Given the description of an element on the screen output the (x, y) to click on. 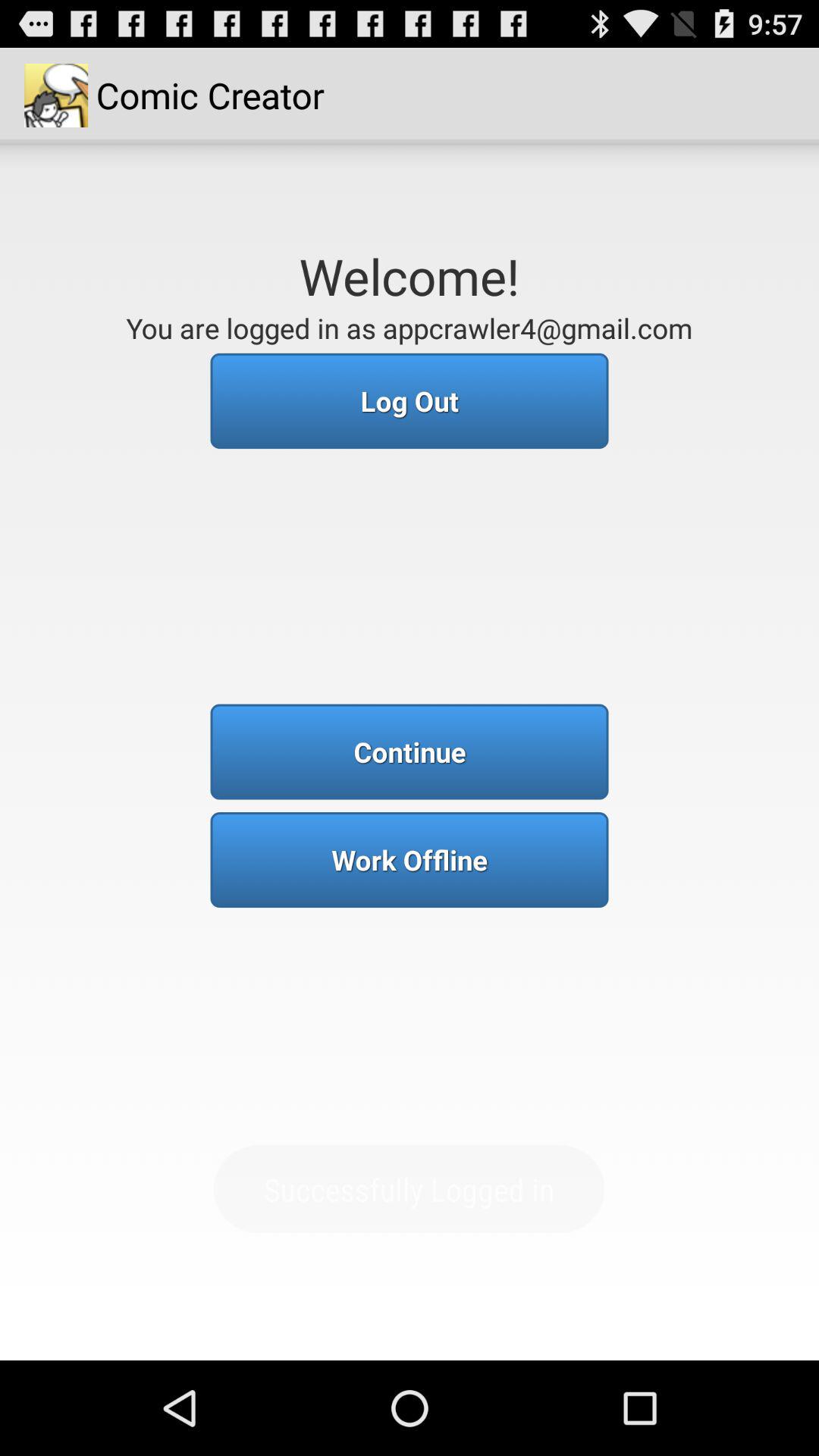
choose icon above the continue icon (409, 400)
